Given the description of an element on the screen output the (x, y) to click on. 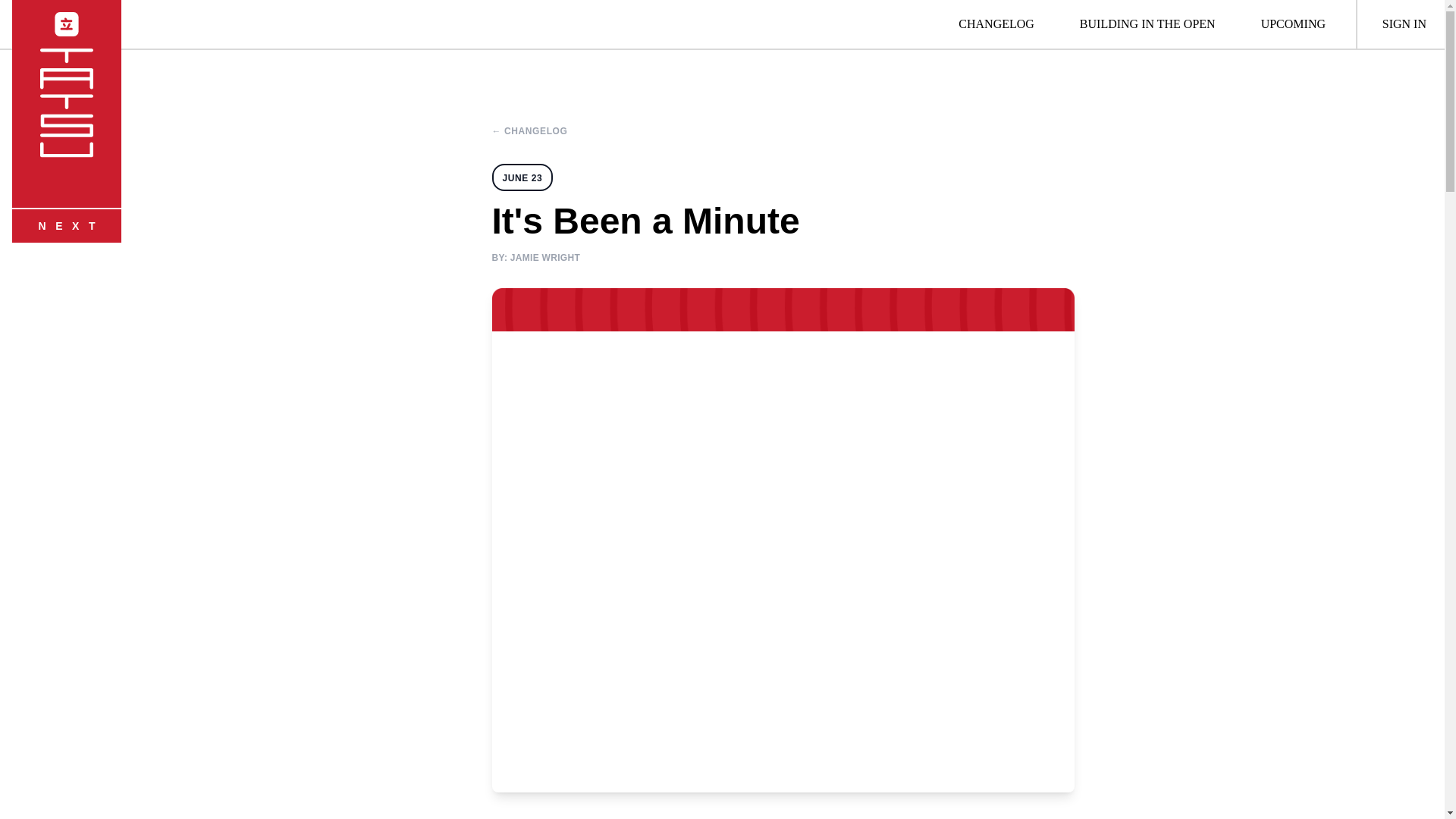
Tatsu (67, 24)
CHANGELOG (996, 24)
BUILDING IN THE OPEN (1147, 24)
UPCOMING (1293, 24)
SIGN IN (1403, 24)
